Given the description of an element on the screen output the (x, y) to click on. 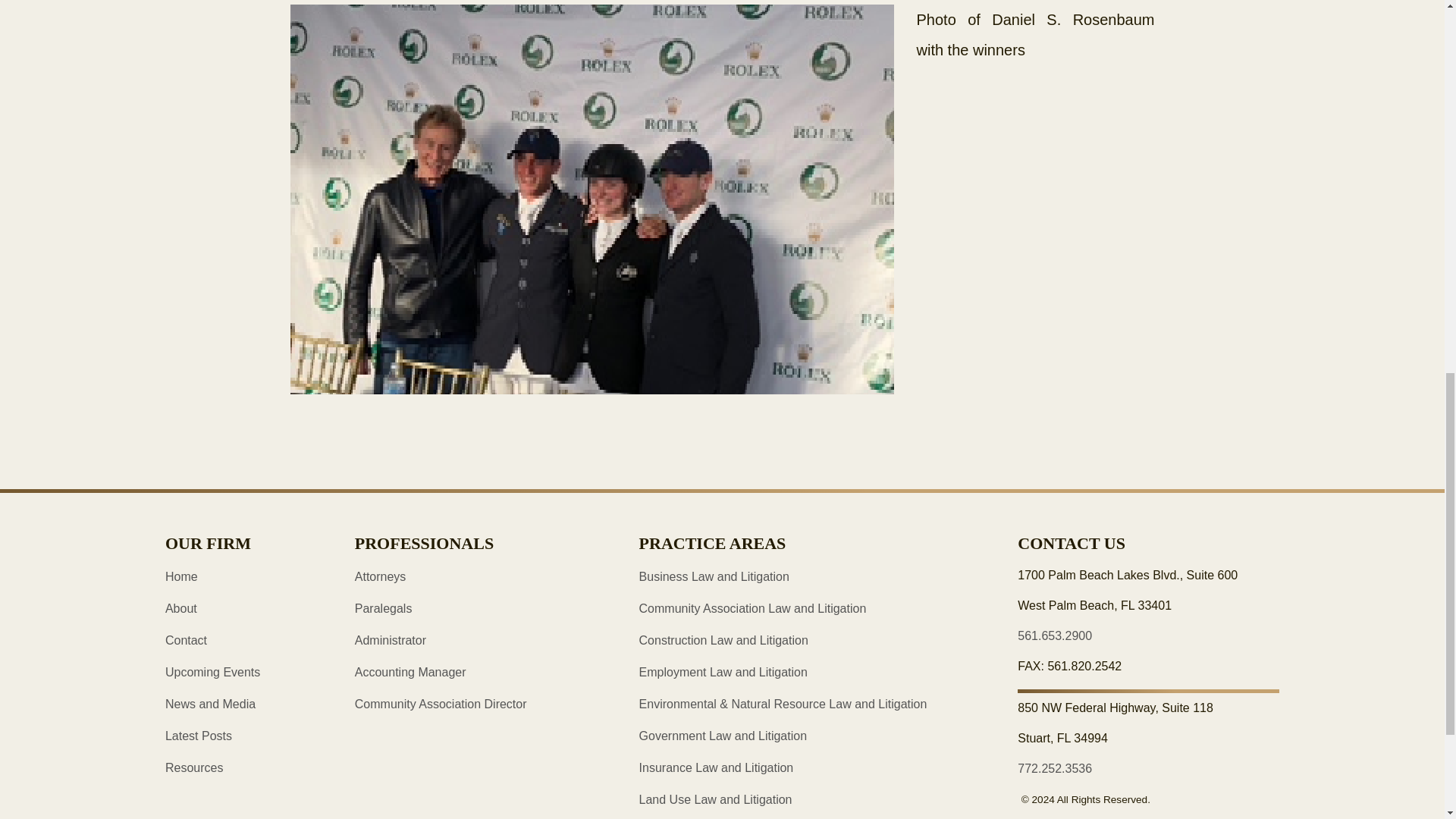
Attorneys (380, 576)
Community Association Law and Litigation (752, 608)
Accounting Manager (410, 671)
Upcoming Events (212, 671)
Government Law and Litigation (722, 735)
Paralegals (383, 608)
Business Law and Litigation (714, 576)
News and Media (210, 703)
Construction Law and Litigation (723, 640)
Community Association Director (441, 703)
